Given the description of an element on the screen output the (x, y) to click on. 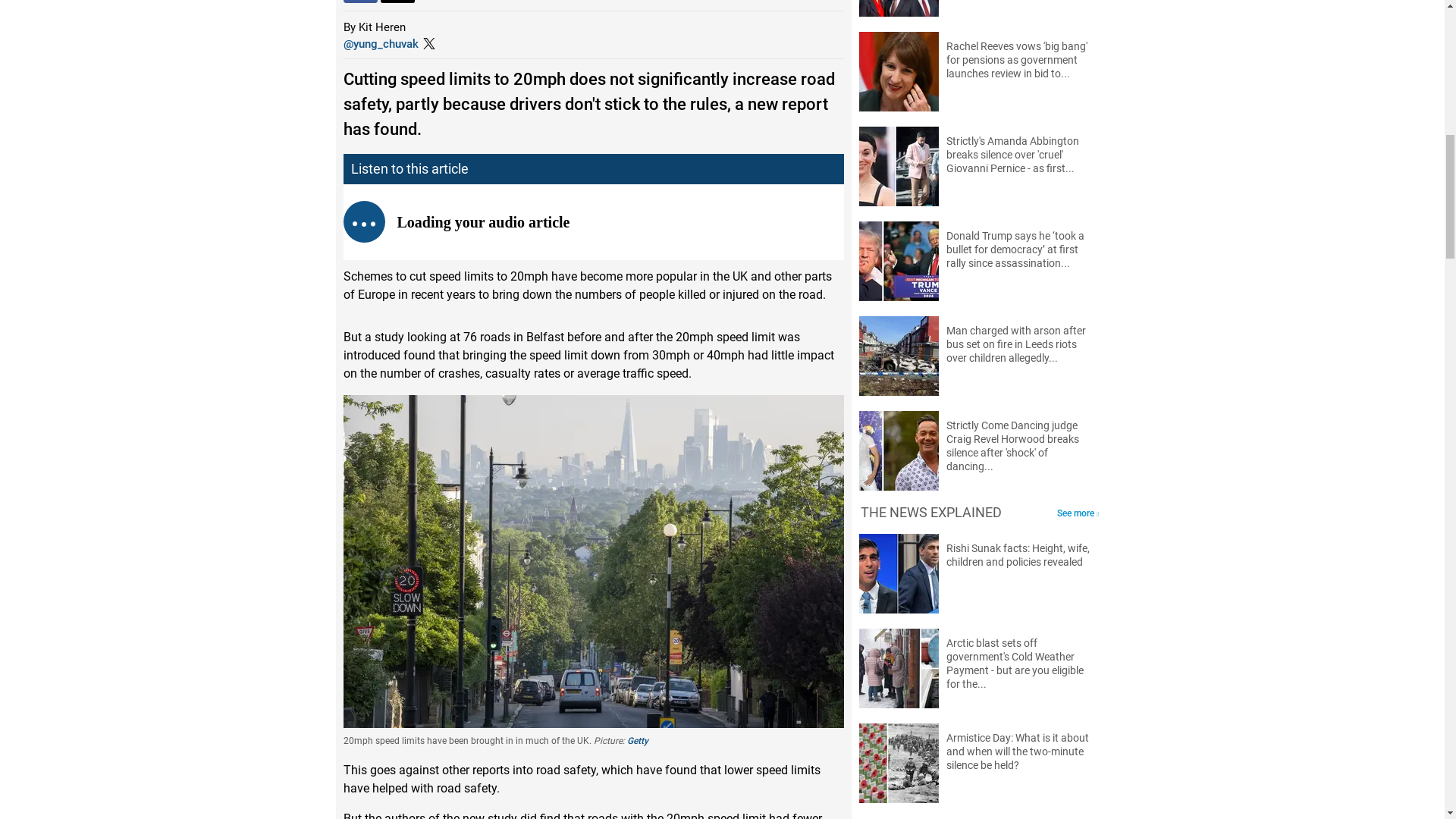
Follow Kit Heren on X (379, 43)
